Given the description of an element on the screen output the (x, y) to click on. 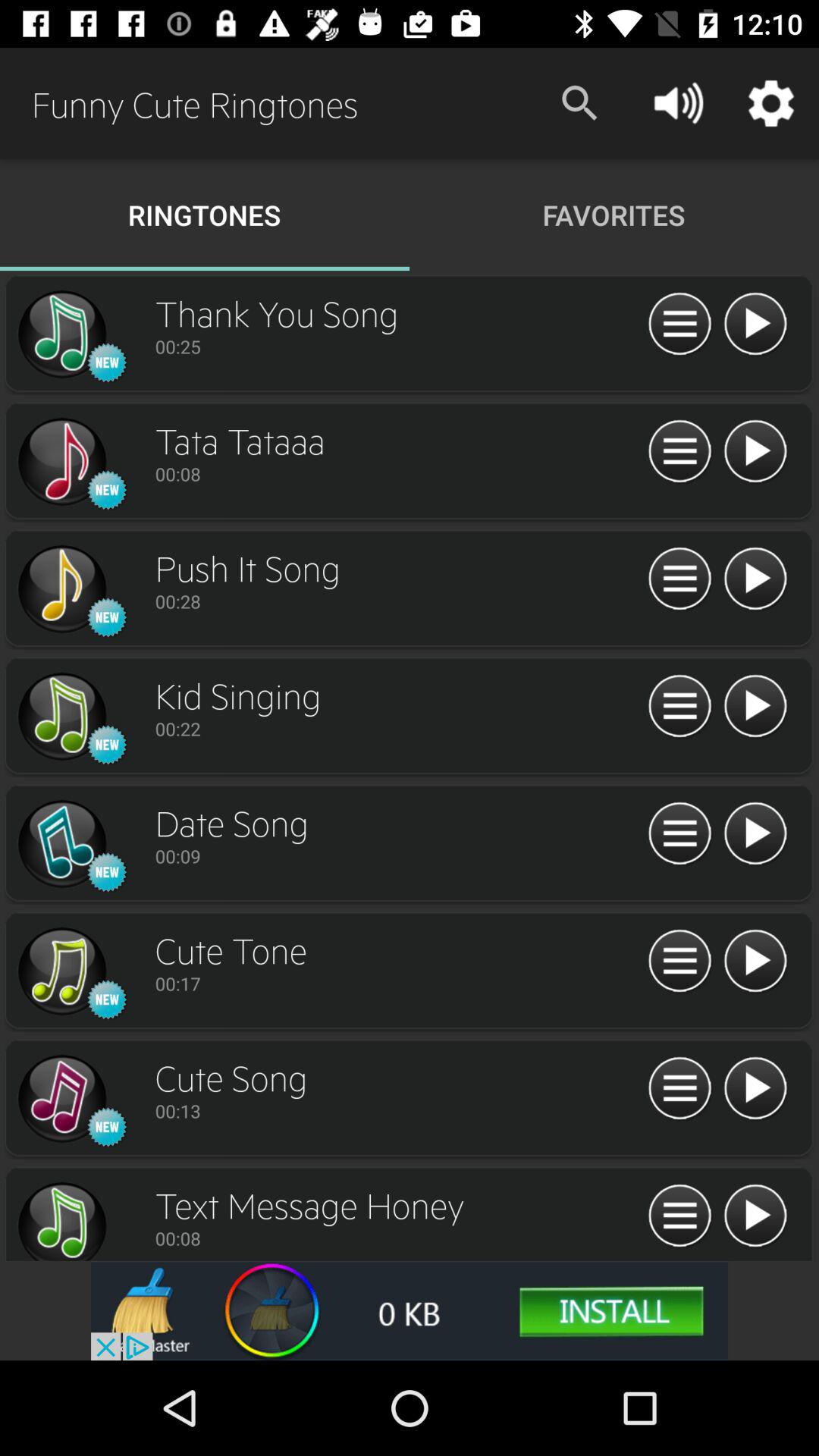
select option\ (755, 706)
